Given the description of an element on the screen output the (x, y) to click on. 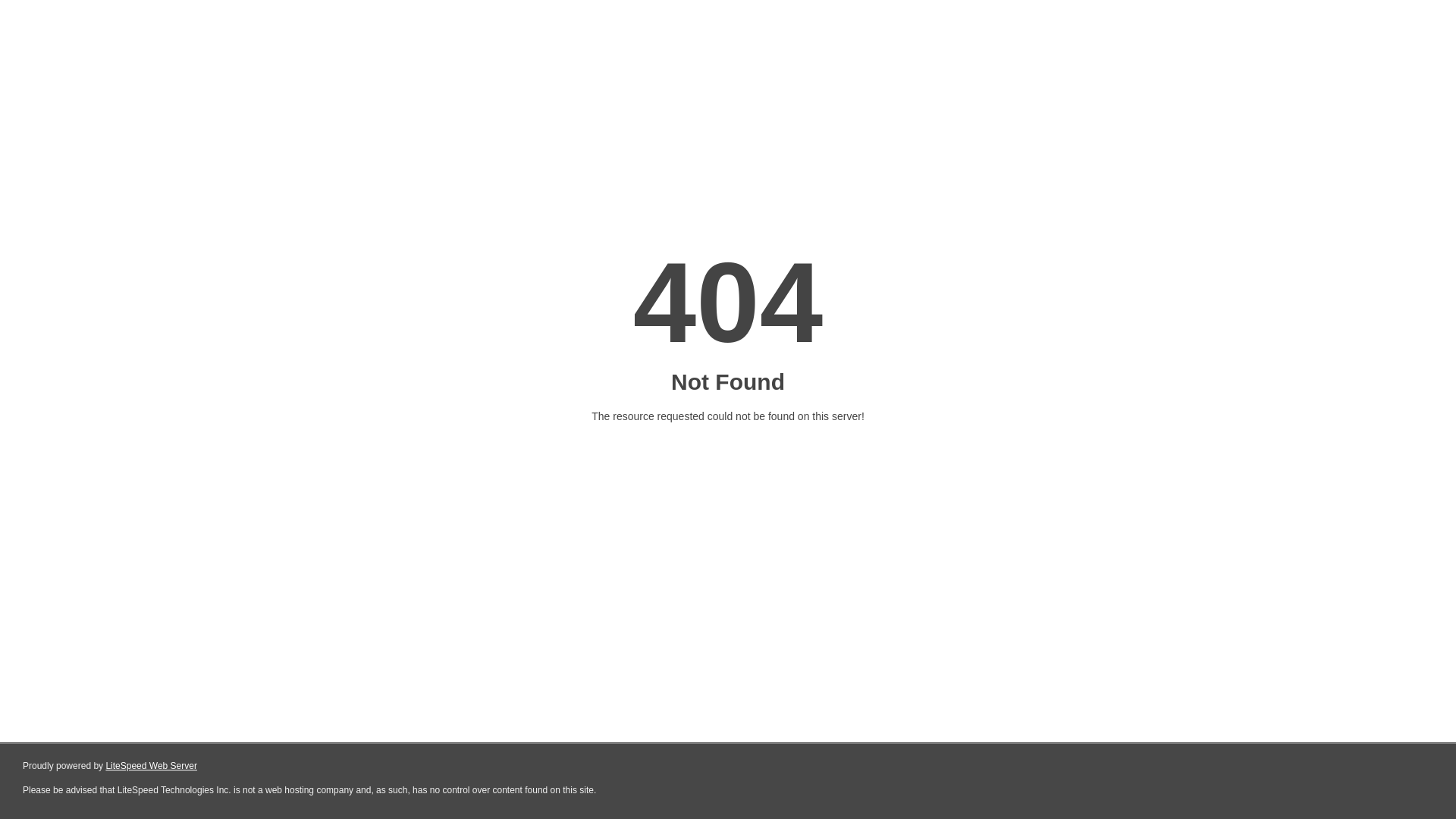
LiteSpeed Web Server Element type: text (151, 765)
